Given the description of an element on the screen output the (x, y) to click on. 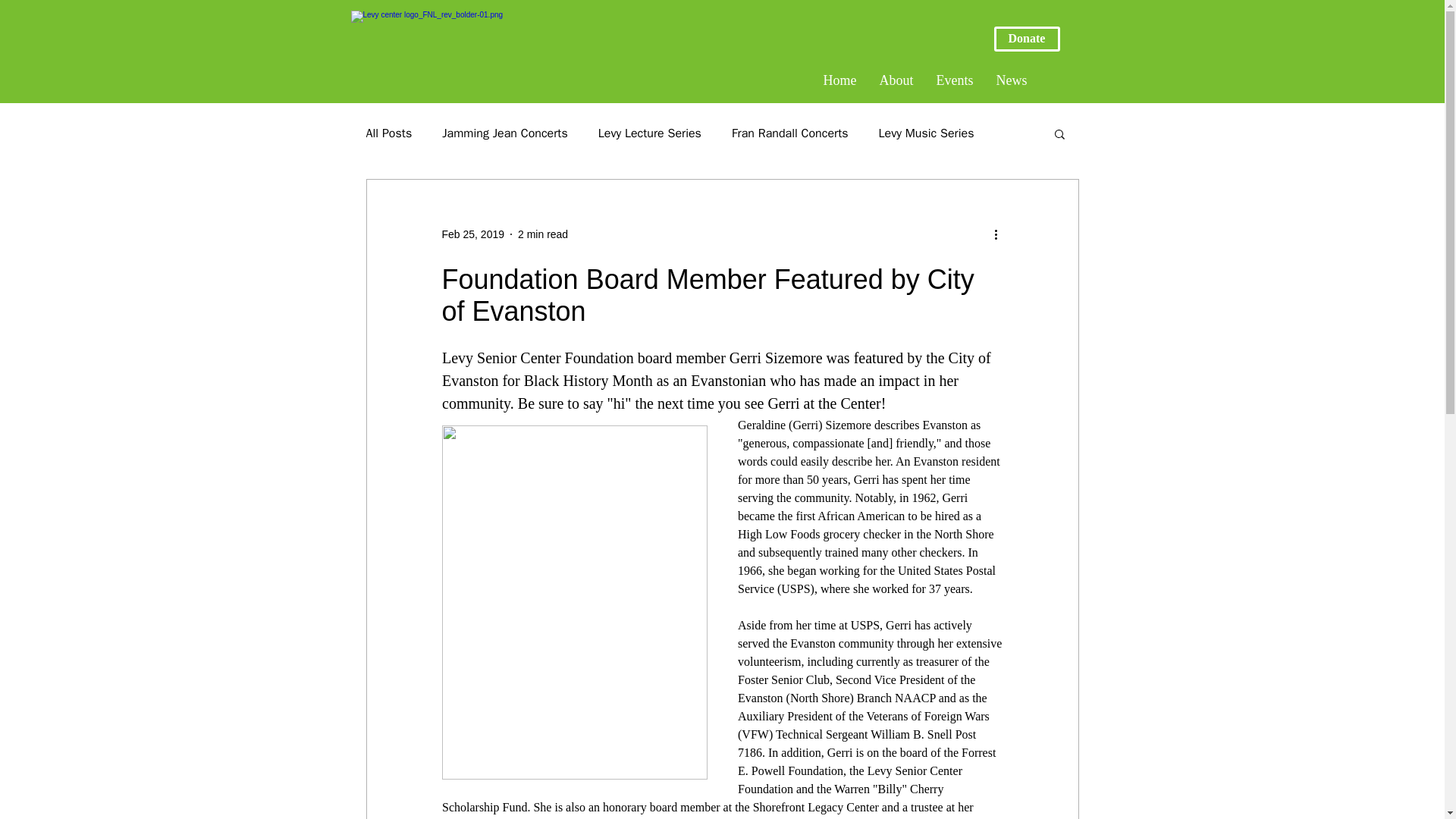
Feb 25, 2019 (472, 233)
2 min read (542, 233)
Jamming Jean Concerts (504, 133)
Levy Music Series (926, 133)
News (1011, 80)
About (895, 80)
Donate (1025, 38)
Fran Randall Concerts (790, 133)
Events (954, 80)
Levy Lecture Series (649, 133)
